Given the description of an element on the screen output the (x, y) to click on. 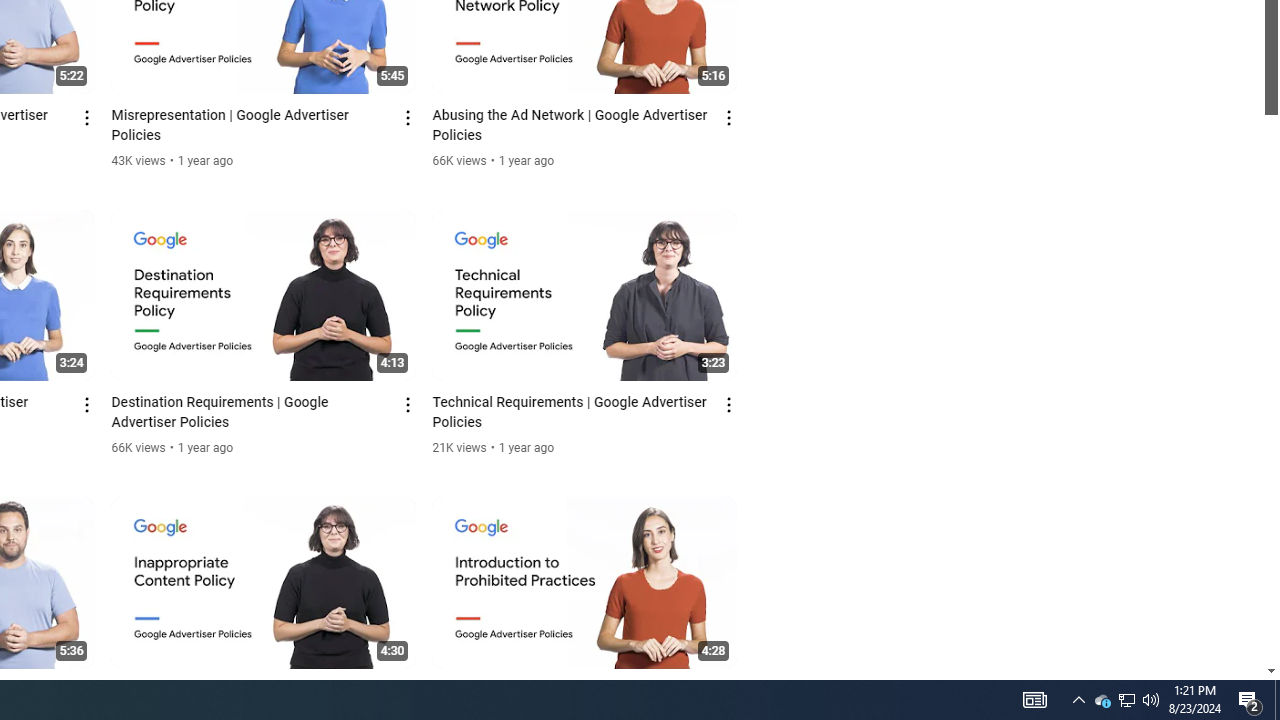
Action menu (729, 691)
